Given the description of an element on the screen output the (x, y) to click on. 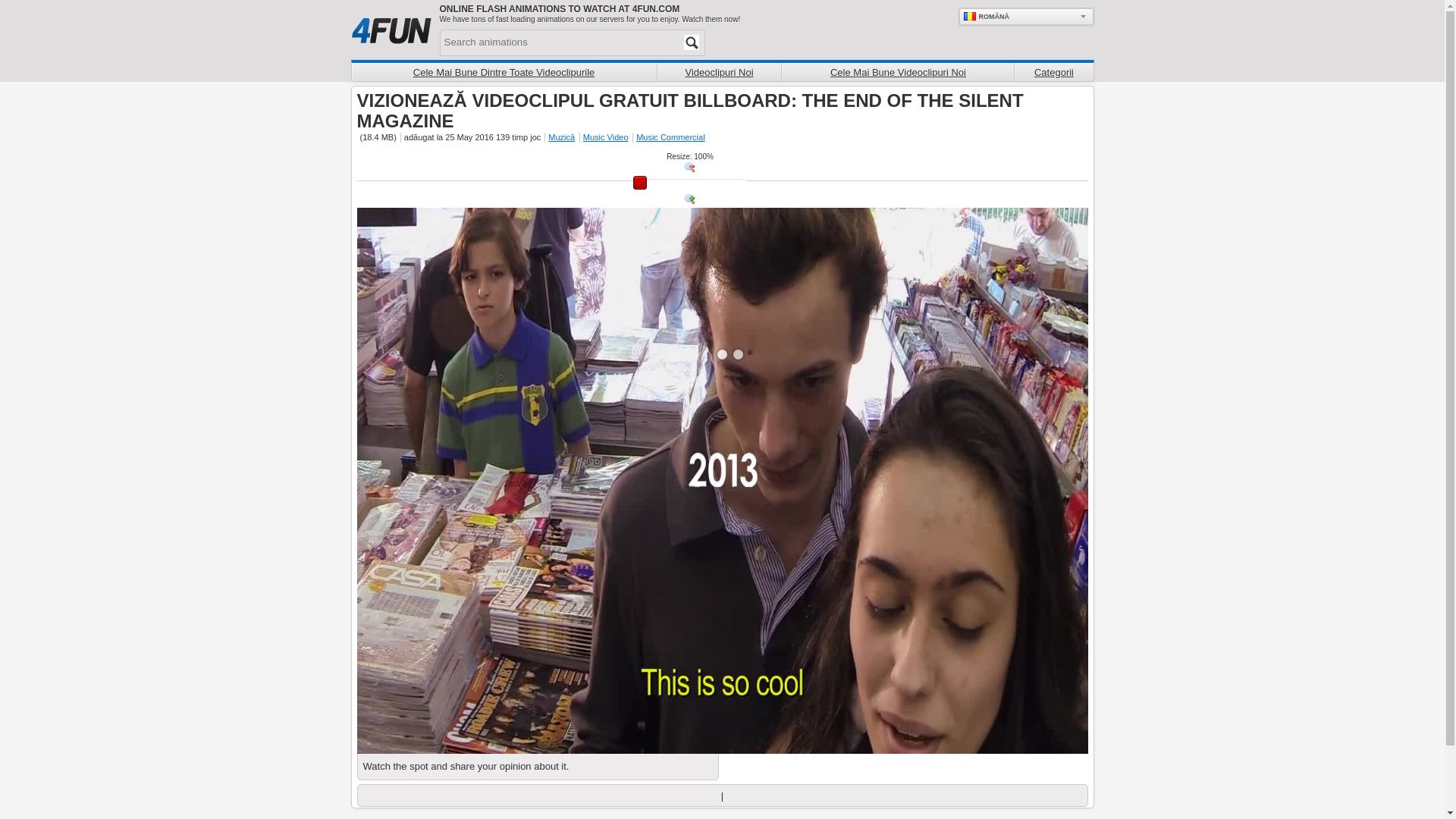
Cele Mai Bune Dintre Toate Videoclipurile (504, 72)
Music Video (604, 137)
Categorii (1053, 72)
Music Commercial (668, 137)
Videoclipuri Noi (718, 72)
Cele Mai Bune Videoclipuri Noi (896, 72)
Translation missing: ro.controllers.tag.title.animation (560, 137)
Translation missing: ro.controllers.tag.title.animation (668, 137)
Translation missing: ro.controllers.tag.title.animation (604, 137)
